Given the description of an element on the screen output the (x, y) to click on. 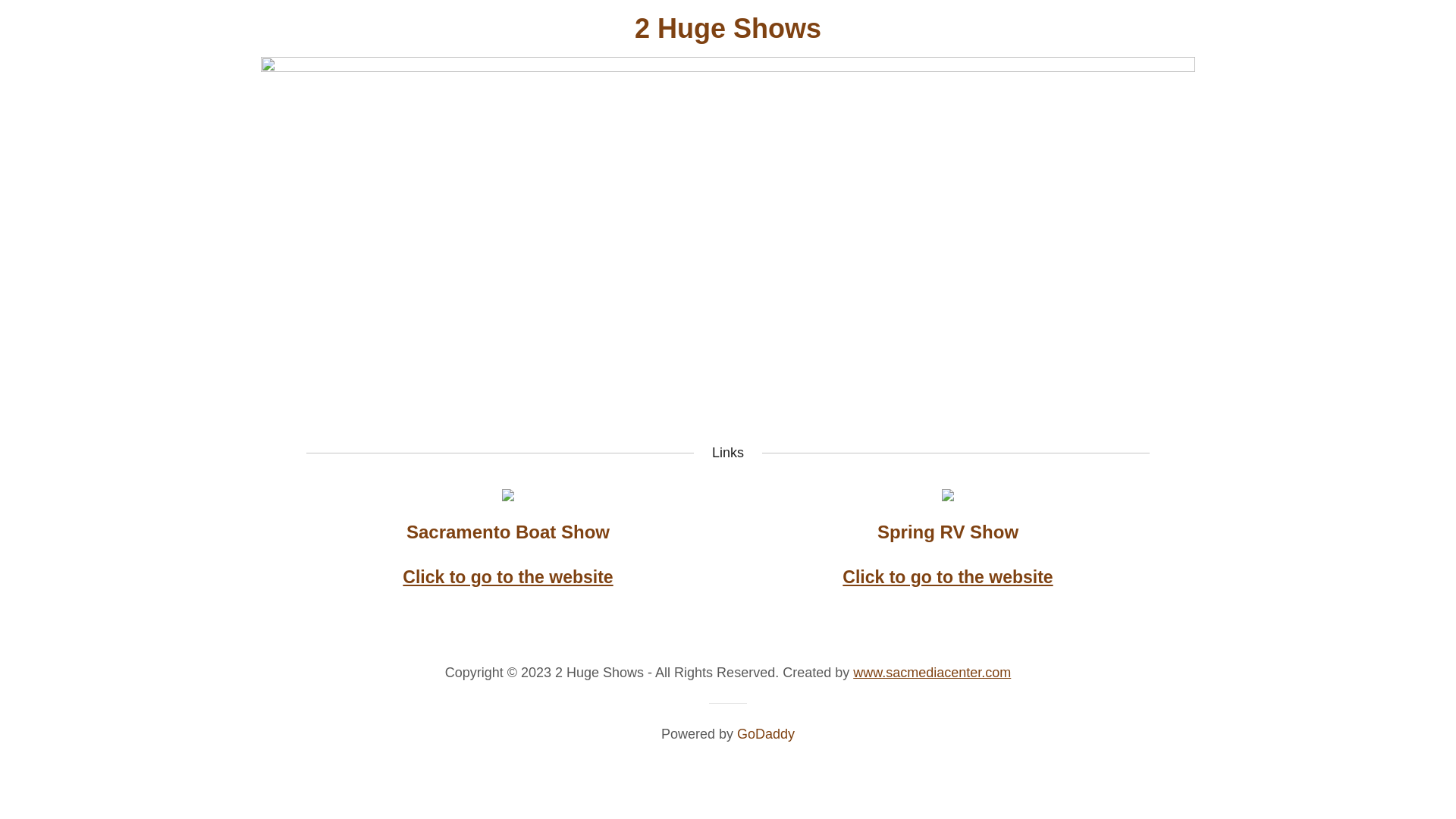
Click to go to the website Element type: text (947, 576)
GoDaddy Element type: text (765, 733)
Click to go to the website Element type: text (507, 576)
www.sacmediacenter.com Element type: text (931, 672)
2 Huge Shows Element type: text (728, 32)
